Given the description of an element on the screen output the (x, y) to click on. 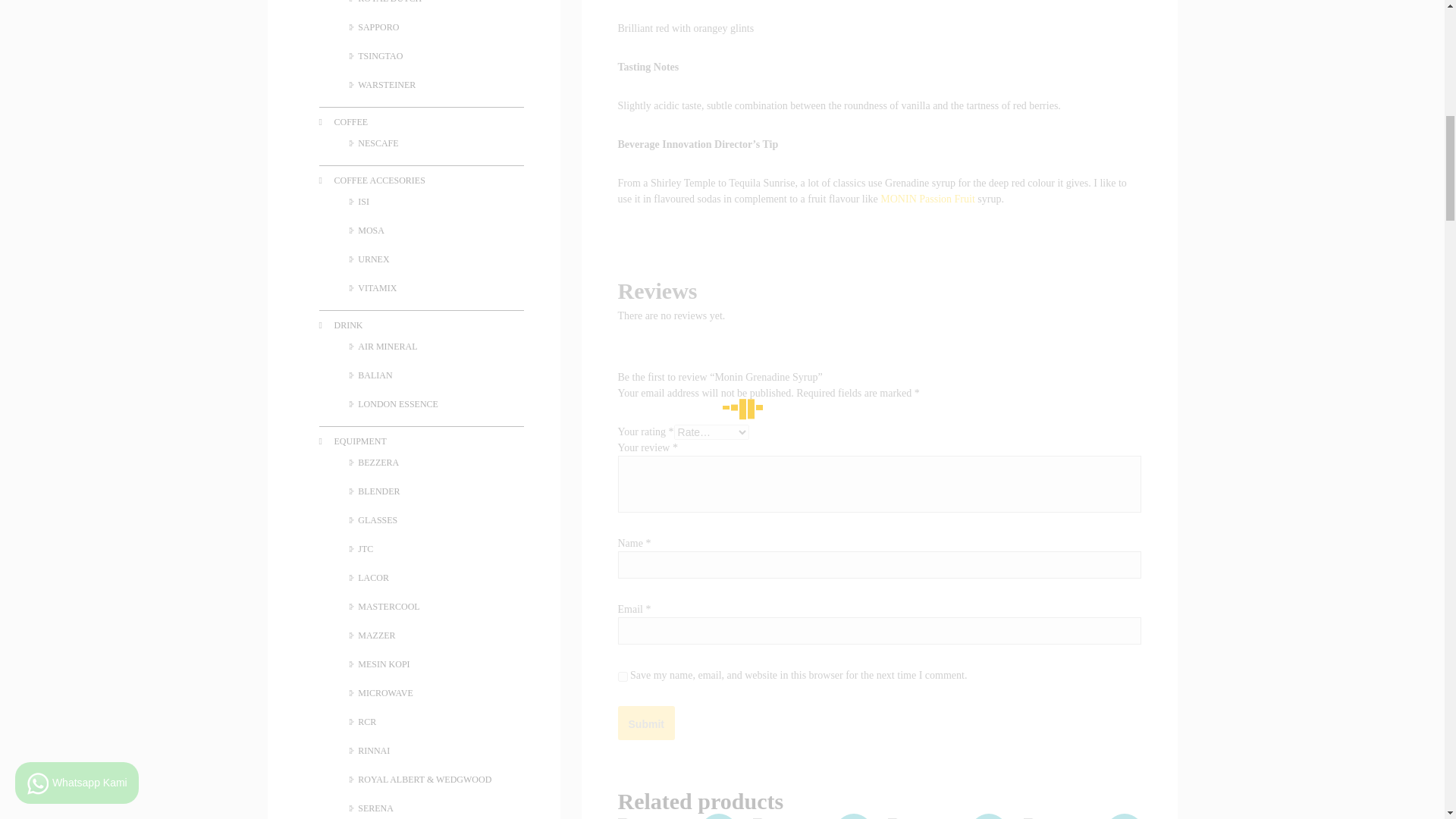
MONIN Passion Fruit (927, 198)
Submit (645, 722)
yes (622, 676)
Submit (645, 722)
